Given the description of an element on the screen output the (x, y) to click on. 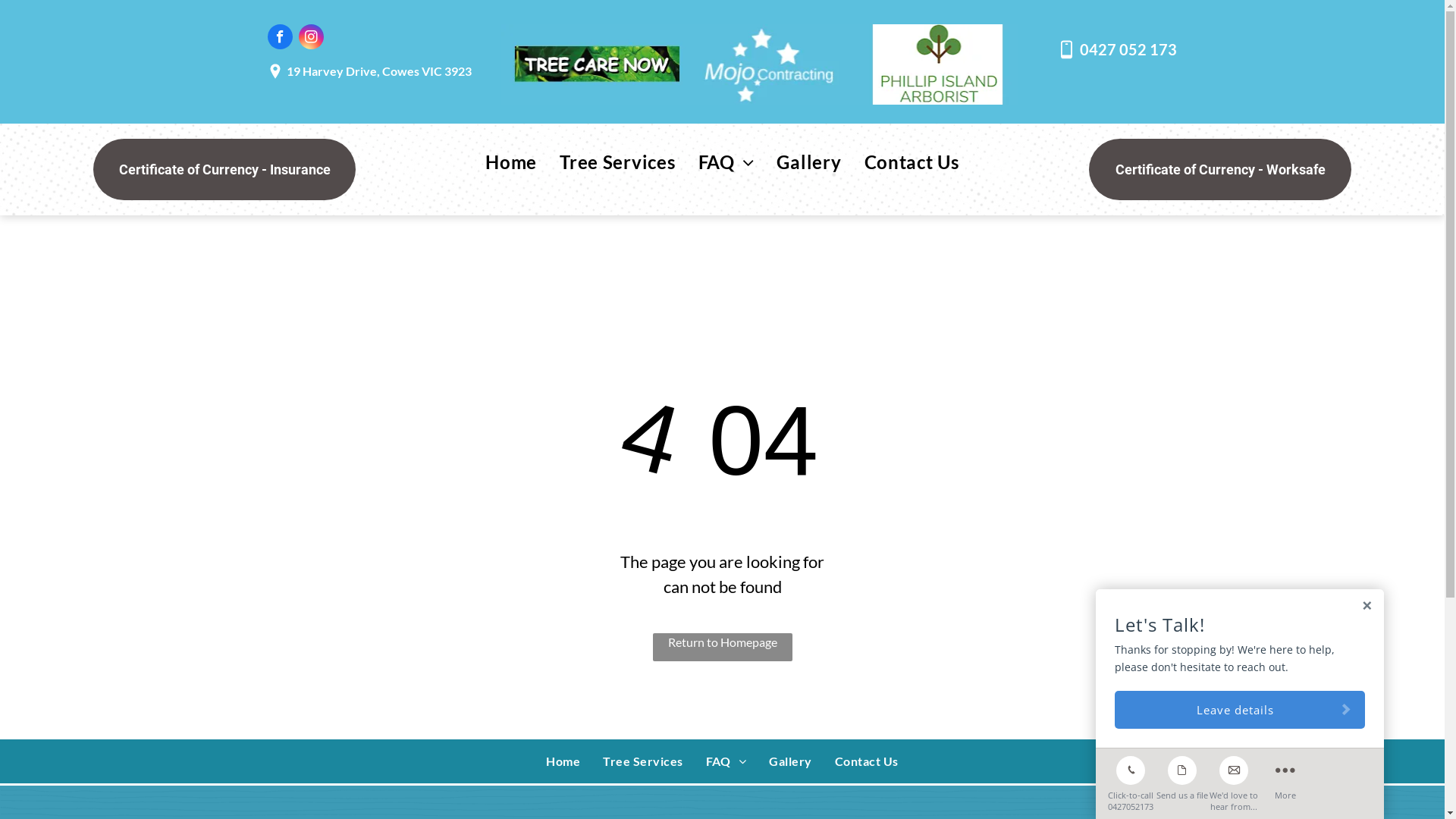
Contact Us Element type: text (866, 760)
Tree Services Element type: text (617, 162)
0427 052 173 Element type: text (1127, 49)
FAQ Element type: text (726, 162)
Home Element type: text (562, 760)
19 Harvey Drive, Cowes VIC 3923 Element type: text (378, 70)
Leave details Element type: text (1239, 709)
Return to Homepage Element type: text (721, 647)
Certificate of Currency - Worksafe Element type: text (1219, 169)
Gallery Element type: text (808, 162)
Mojo Contracting Tree and Stump Removal Element type: hover (759, 64)
Certificate of Currency - Insurance Element type: text (224, 169)
Contact Us Element type: text (910, 162)
FAQ Element type: text (726, 760)
Click-to-call 0427052173 Element type: text (1130, 780)
Send us a file Element type: text (1182, 774)
We'd love to hear from... Element type: text (1233, 780)
Home Element type: text (510, 162)
Gallery Element type: text (789, 760)
Tree Services Element type: text (642, 760)
